Given the description of an element on the screen output the (x, y) to click on. 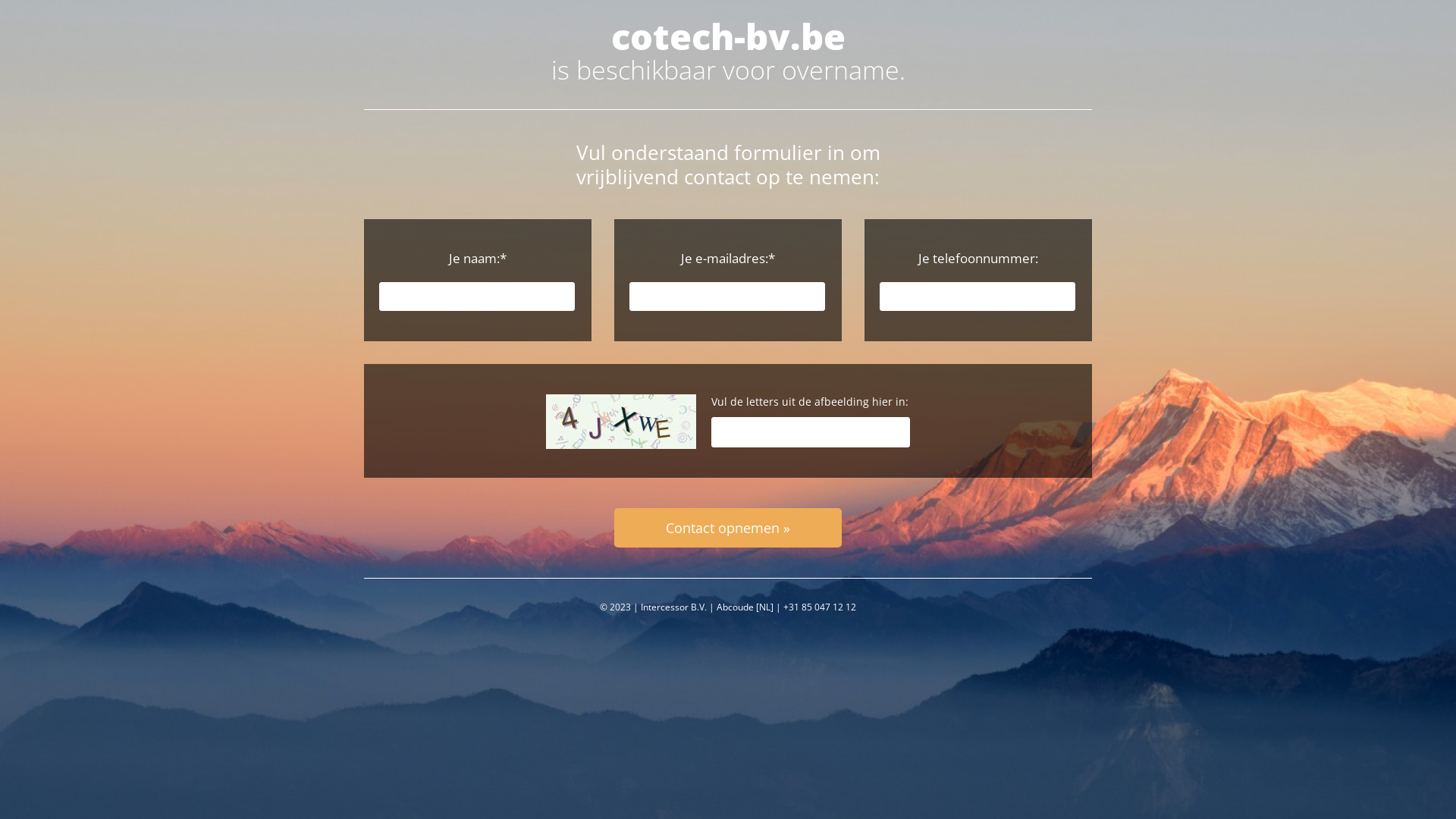
No Bots allowed Element type: hover (621, 421)
